Given the description of an element on the screen output the (x, y) to click on. 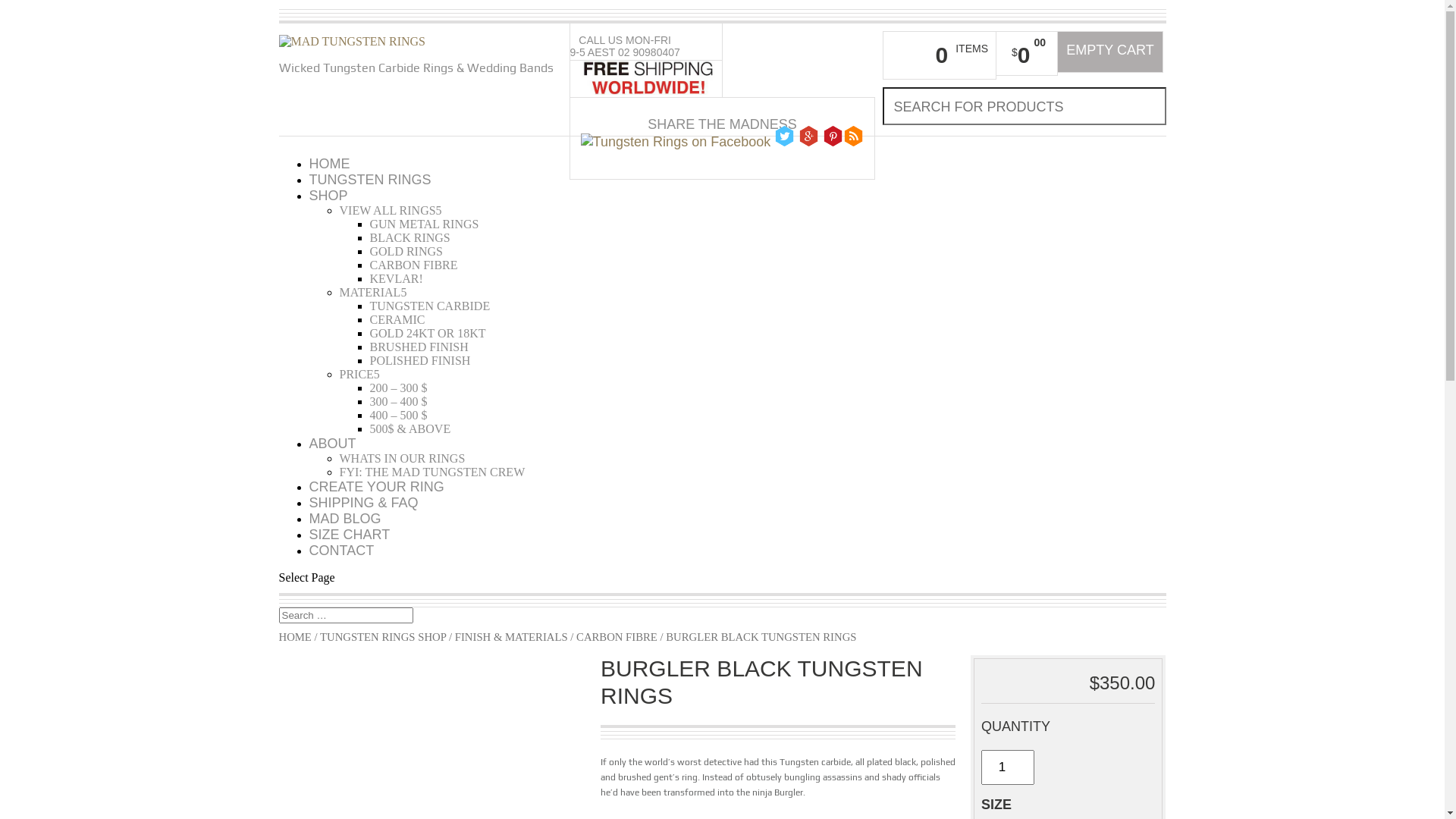
WHATS IN OUR RINGS Element type: text (402, 457)
 Follow Tungsten Rings on Google Plus Element type: hover (808, 135)
SHIPPING & FAQ Element type: text (363, 502)
POLISHED FINISH Element type: text (420, 360)
MAD BLOG Element type: text (345, 518)
KEVLAR! Element type: text (396, 278)
GUN METAL RINGS Element type: text (424, 223)
TUNGSTEN RINGS SHOP Element type: text (382, 636)
BRUSHED FINISH Element type: text (419, 346)
Follow Tungsten Rings on Pinterest Element type: hover (832, 135)
HOME Element type: text (329, 163)
Follow Tungsten Rings on Blogger Element type: hover (853, 135)
CARBON FIBRE Element type: text (414, 264)
 Follow Tungsten Rings on Twitter Element type: hover (784, 135)
Mad tungsten rings Element type: hover (352, 41)
Search for: Element type: hover (346, 615)
FYI: THE MAD TUNGSTEN CREW Element type: text (432, 471)
CARBON FIBRE Element type: text (616, 636)
TUNGSTEN CARBIDE Element type: text (430, 305)
TUNGSTEN RINGS Element type: text (370, 179)
ABOUT Element type: text (332, 443)
VIEW ALL RINGS Element type: text (390, 209)
FINISH & MATERIALS Element type: text (511, 636)
Mad tungsten rings Element type: hover (352, 40)
BLACK RINGS Element type: text (410, 237)
GOLD 24KT OR 18KT Element type: text (428, 332)
SIZE CHART Element type: text (349, 534)
CREATE YOUR RING Element type: text (376, 486)
CONTACT Element type: text (341, 550)
PRICE Element type: text (359, 373)
EMPTY CART Element type: text (1110, 51)
HOME Element type: text (295, 636)
 Follow Tungsten Rings on Facebook Element type: hover (675, 141)
CERAMIC Element type: text (397, 319)
GOLD RINGS Element type: text (406, 250)
SHOP Element type: text (328, 195)
Qty Element type: hover (1007, 766)
MATERIAL Element type: text (373, 291)
500$ & ABOVE Element type: text (410, 428)
